Given the description of an element on the screen output the (x, y) to click on. 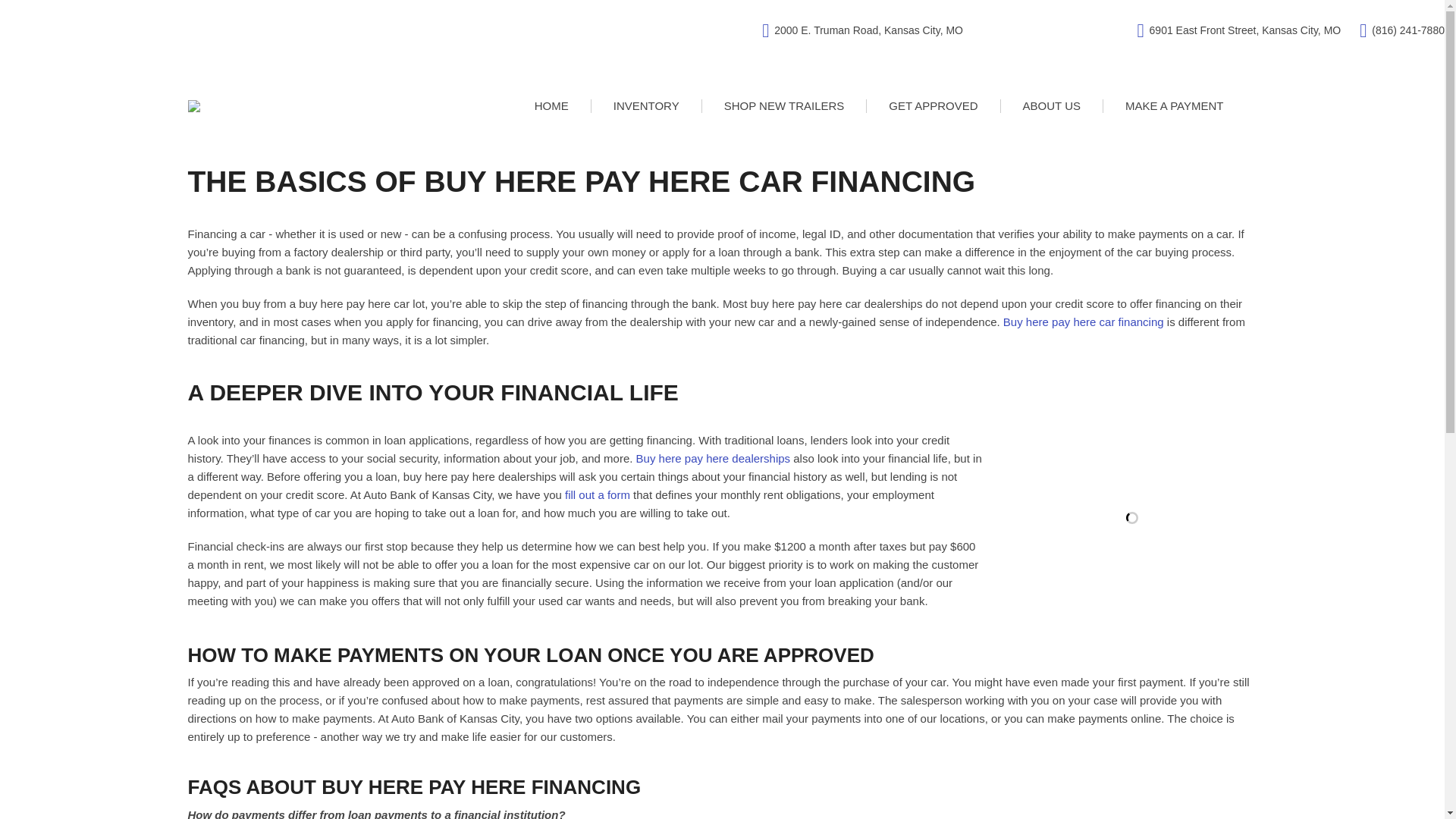
Auto Bank of Kansas City (193, 105)
Buy here pay here dealerships (713, 458)
INVENTORY (646, 105)
SHOP NEW TRAILERS (784, 105)
HOME (551, 105)
MAKE A PAYMENT (1174, 105)
6901 East Front Street, Kansas City, MO (1238, 30)
Buy here pay here car financing (1083, 321)
GET APPROVED (933, 105)
ABOUT US (1051, 105)
